Given the description of an element on the screen output the (x, y) to click on. 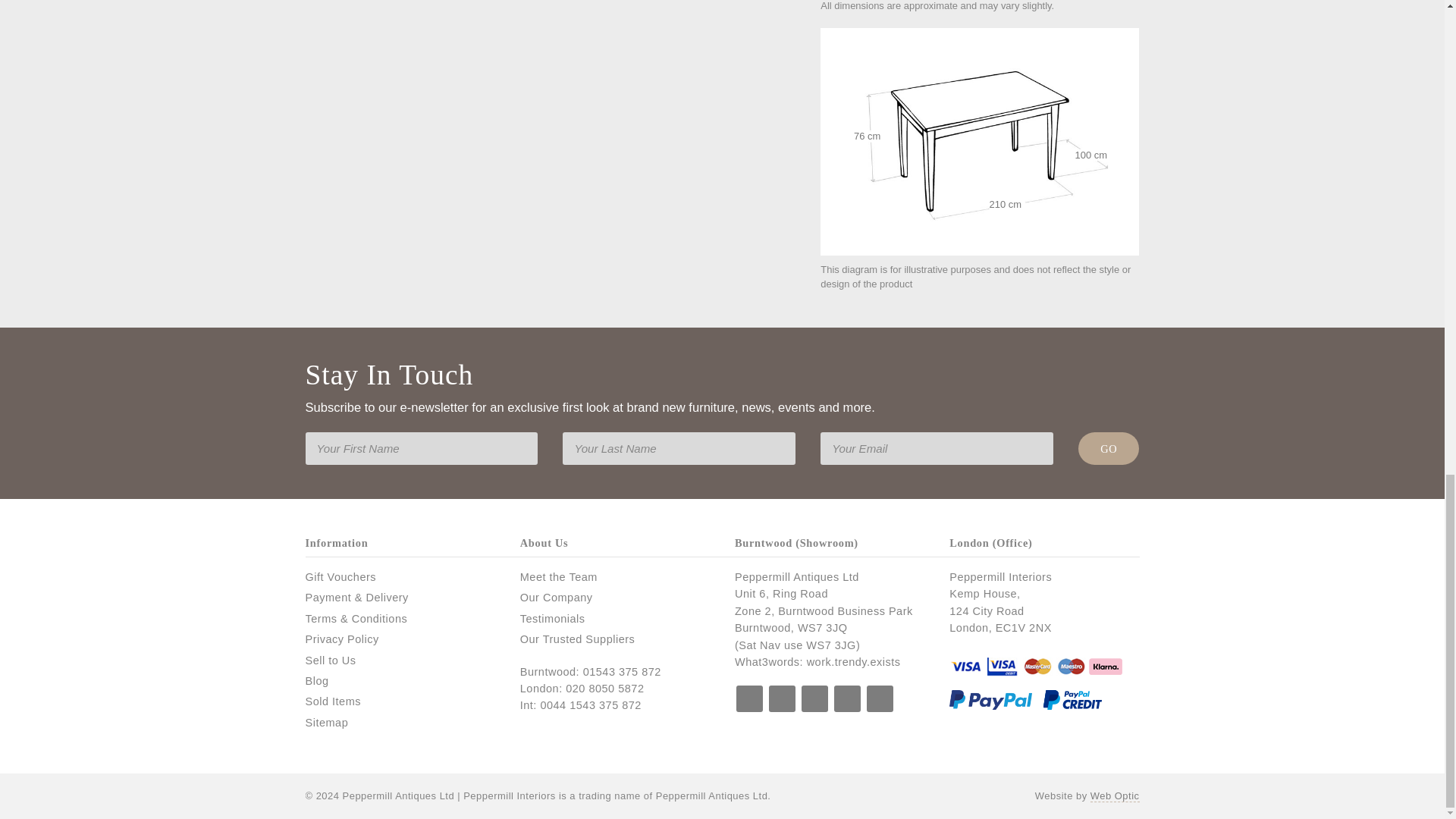
Go (1108, 448)
